Given the description of an element on the screen output the (x, y) to click on. 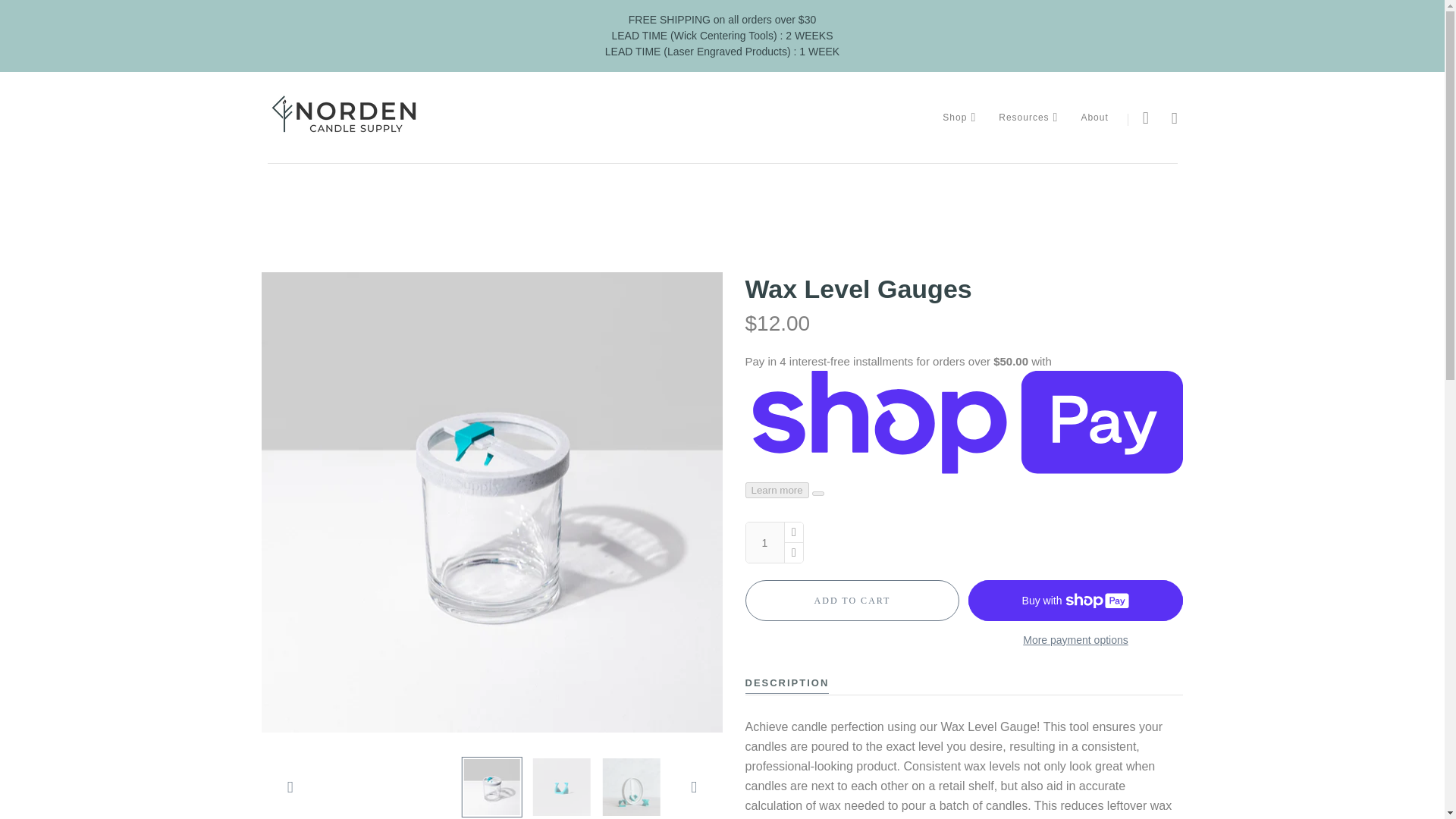
About (1094, 117)
Add to cart (851, 599)
1 (764, 542)
